Given the description of an element on the screen output the (x, y) to click on. 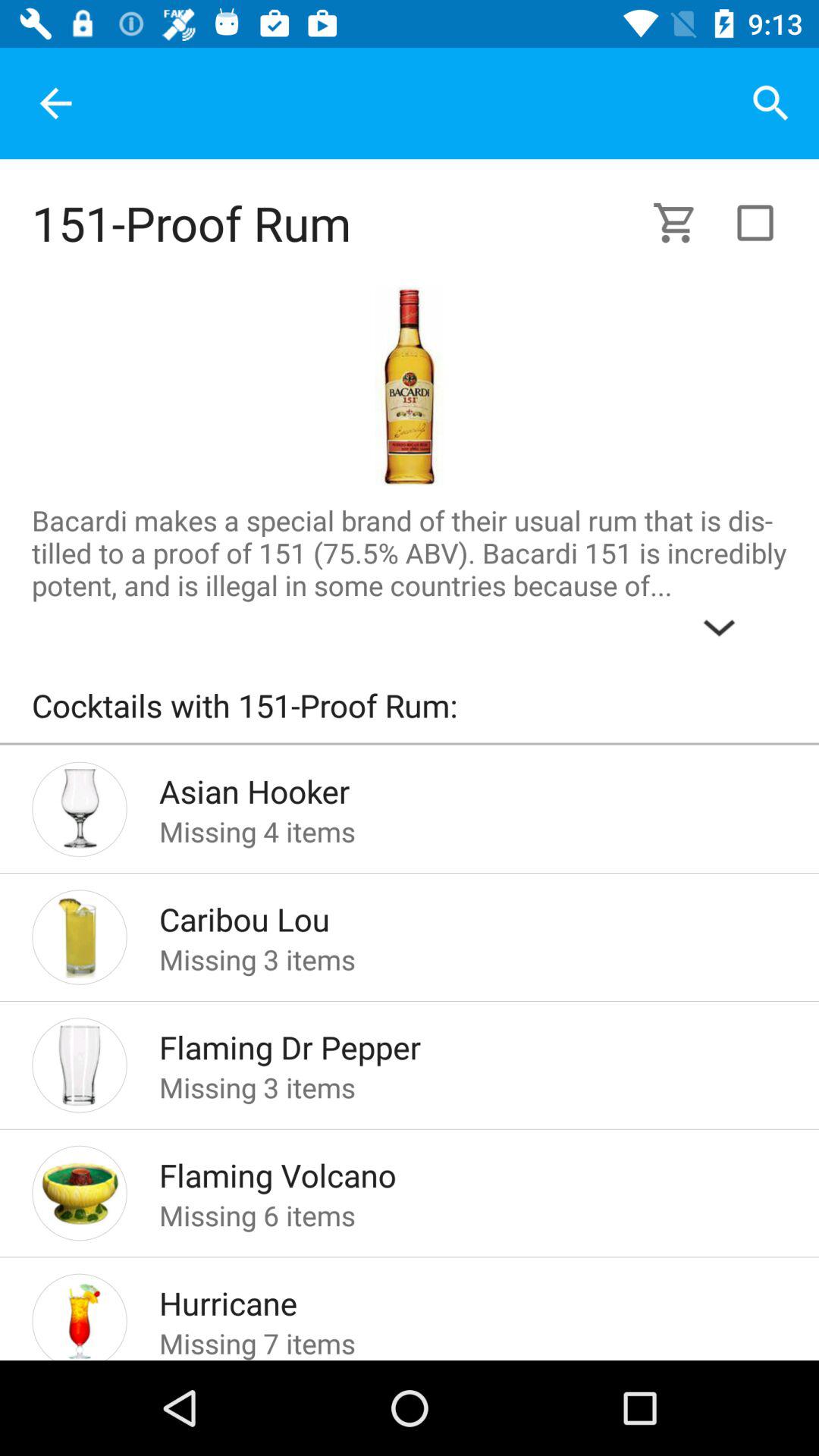
turn on the bacardi makes a (409, 576)
